Given the description of an element on the screen output the (x, y) to click on. 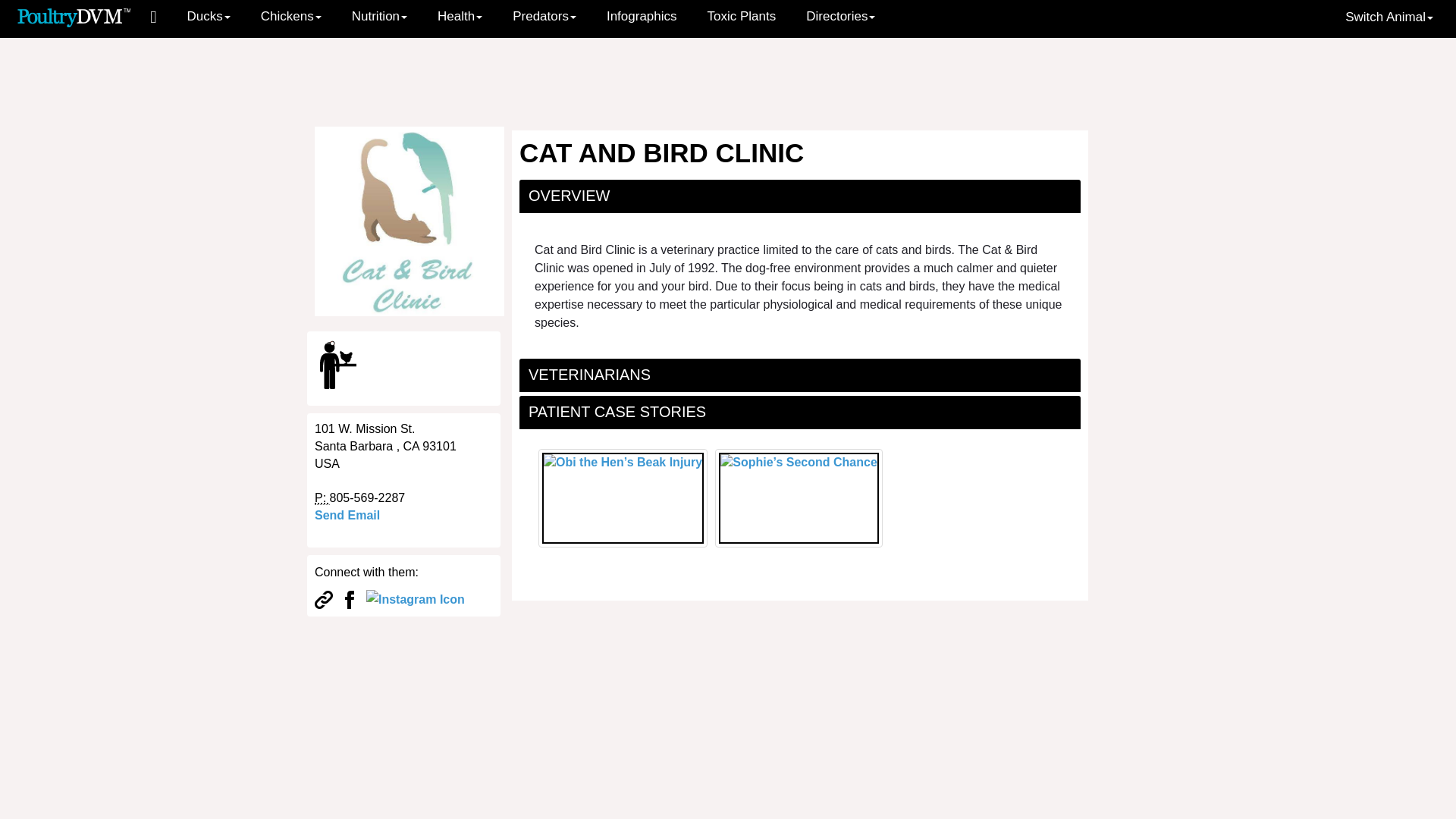
PoultryDVM Logo (74, 15)
Ducks (208, 16)
Directories (839, 16)
Toxic Plants to Chickens (742, 16)
Chickens (291, 16)
Infographics (642, 16)
Switch Animal (1388, 17)
OVERVIEW (569, 195)
Chicken and Duck Infographics (642, 16)
Predators (544, 16)
Nutrition (379, 16)
Send Email (347, 514)
Health (459, 16)
Toxic Plants (742, 16)
